Given the description of an element on the screen output the (x, y) to click on. 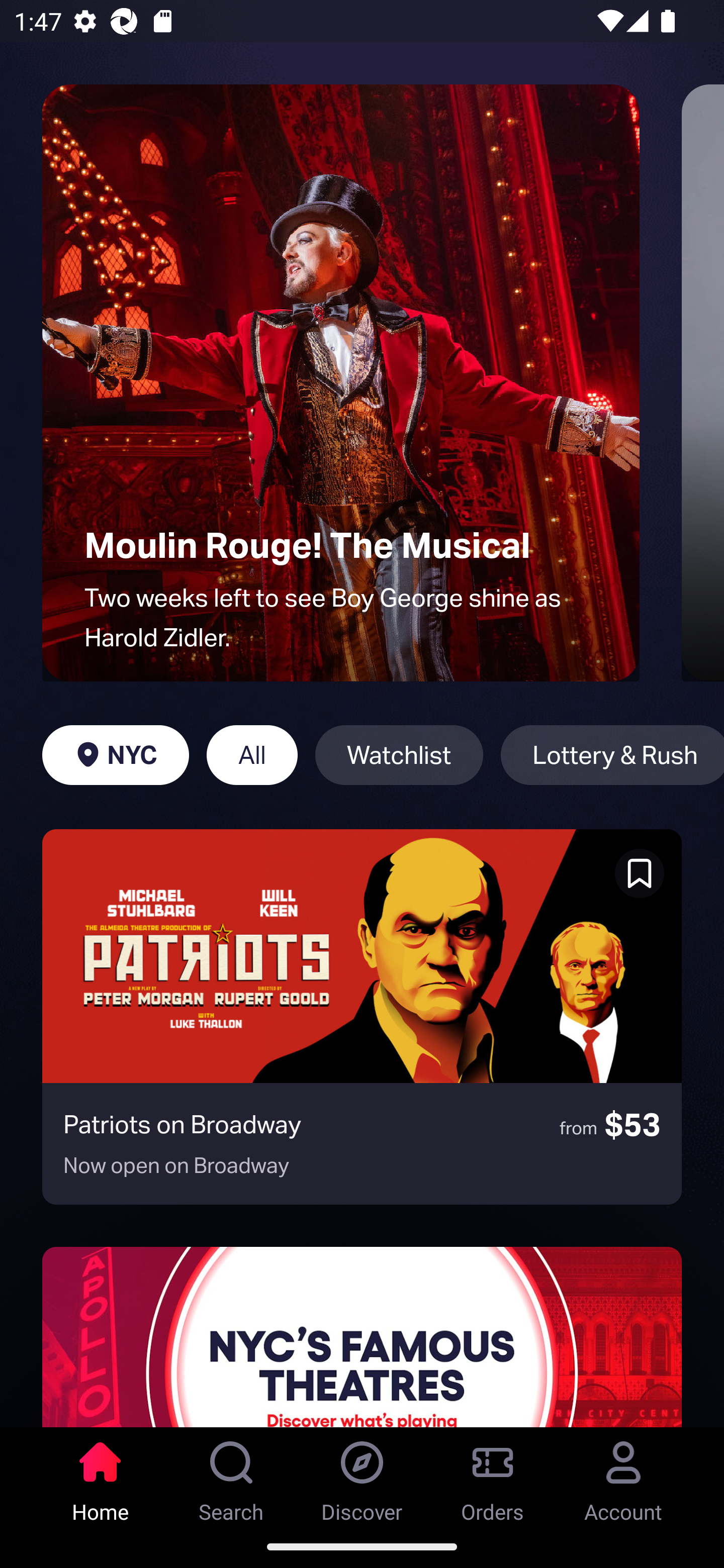
NYC (114, 754)
All (251, 754)
Watchlist (398, 754)
Lottery & Rush (612, 754)
Patriots on Broadway from $53 Now open on Broadway (361, 1016)
Search (230, 1475)
Discover (361, 1475)
Orders (492, 1475)
Account (623, 1475)
